Given the description of an element on the screen output the (x, y) to click on. 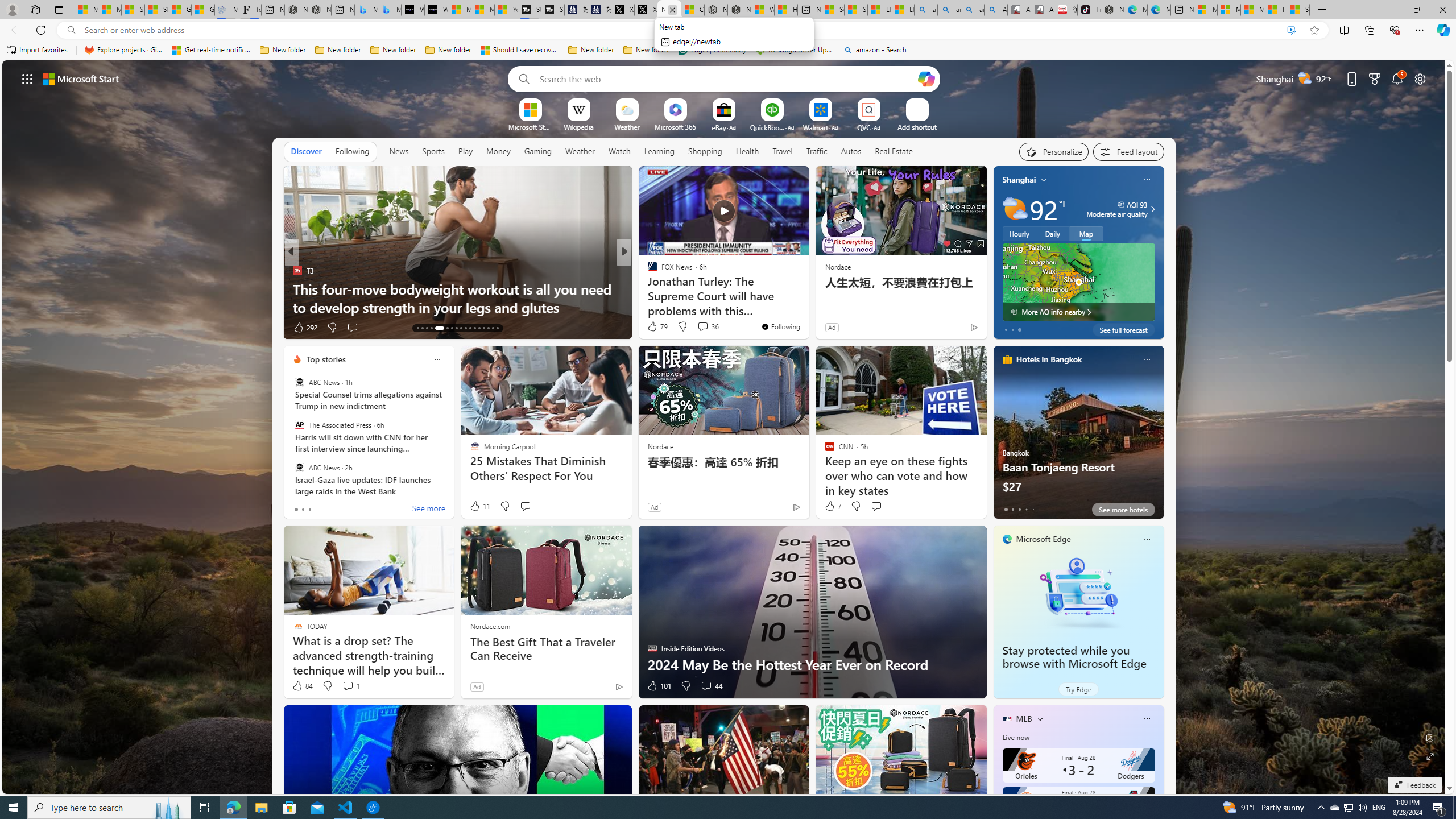
Shanghai (1018, 179)
See more (795, 179)
Traffic (816, 151)
tab-0 (1005, 509)
Personal Profile (12, 9)
Twisted Sifter (647, 270)
Gaming (537, 151)
View comments 312 Comment (703, 327)
124 Like (654, 327)
Aspose (653, 288)
tab-3 (1025, 509)
Start the conversation (876, 505)
Real Estate (893, 151)
View comments 103 Comment (709, 327)
